Given the description of an element on the screen output the (x, y) to click on. 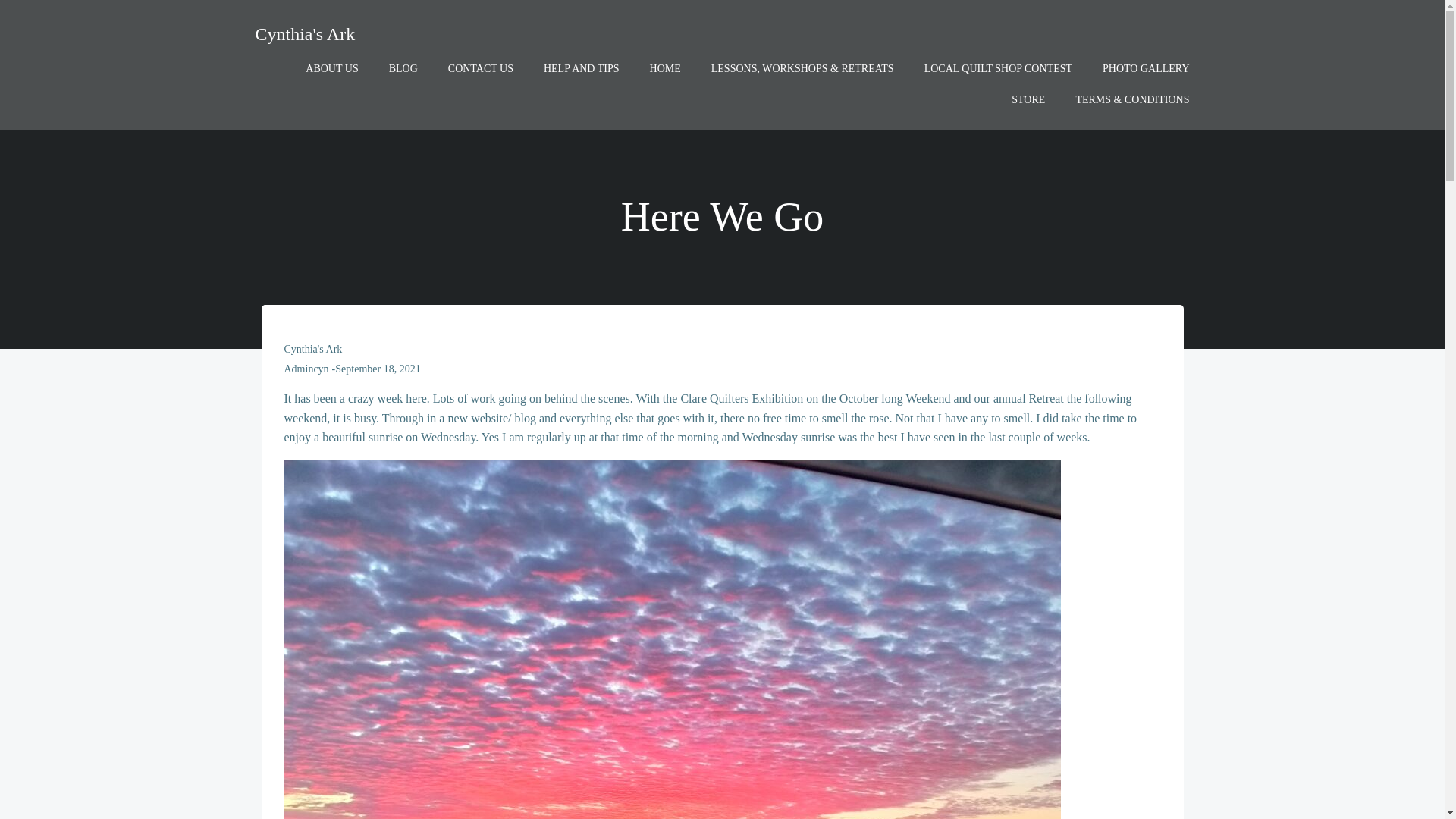
Admincyn (306, 368)
HOME (665, 68)
Cynthia's Ark (304, 33)
ABOUT US (331, 68)
PHOTO GALLERY (1145, 68)
STORE (1028, 99)
BLOG (402, 68)
CONTACT US (480, 68)
September 18, 2021 (377, 368)
LOCAL QUILT SHOP CONTEST (997, 68)
HELP AND TIPS (581, 68)
Cynthia'S Ark (312, 349)
